Given the description of an element on the screen output the (x, y) to click on. 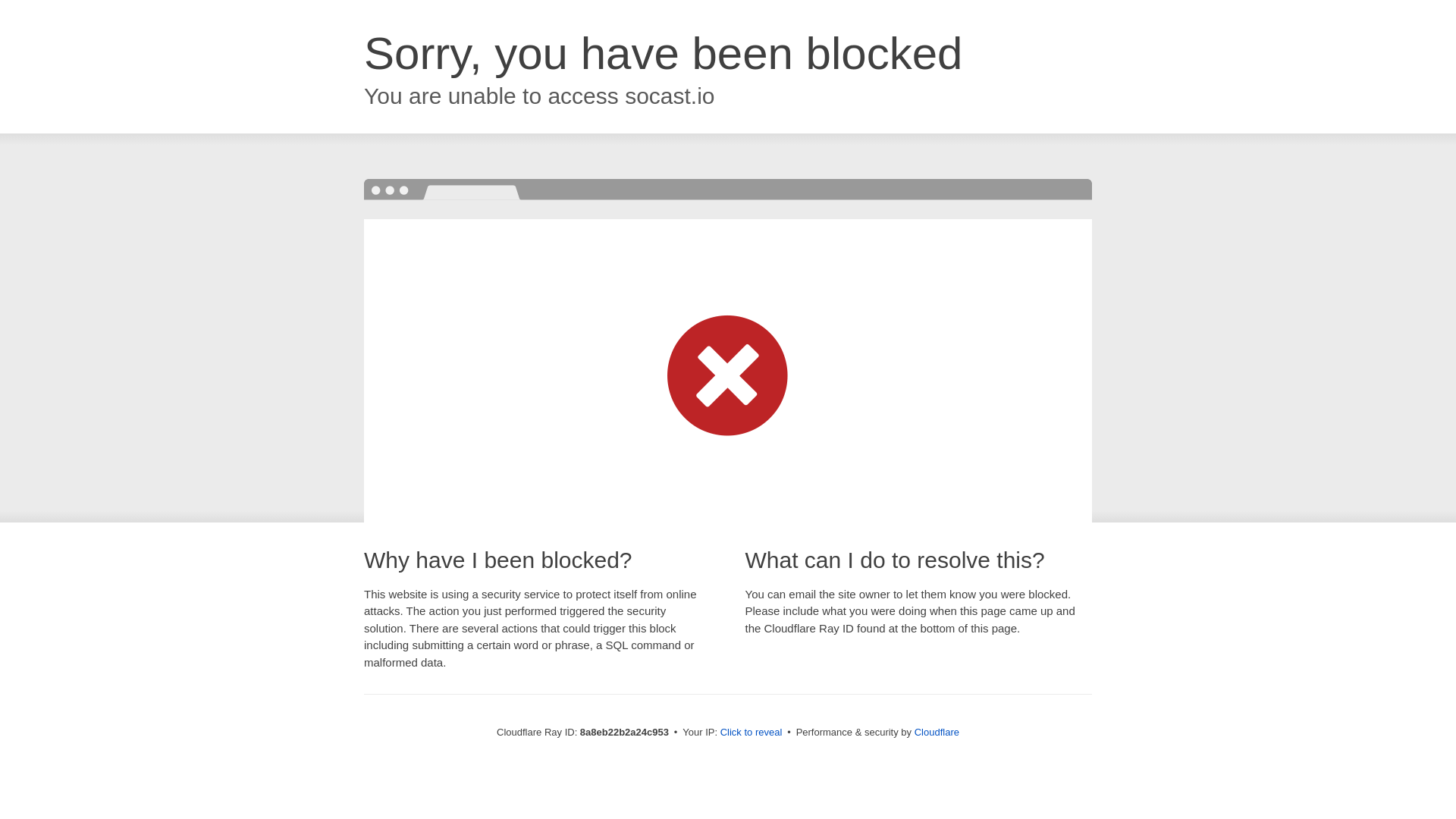
Click to reveal (751, 732)
Cloudflare (936, 731)
